Given the description of an element on the screen output the (x, y) to click on. 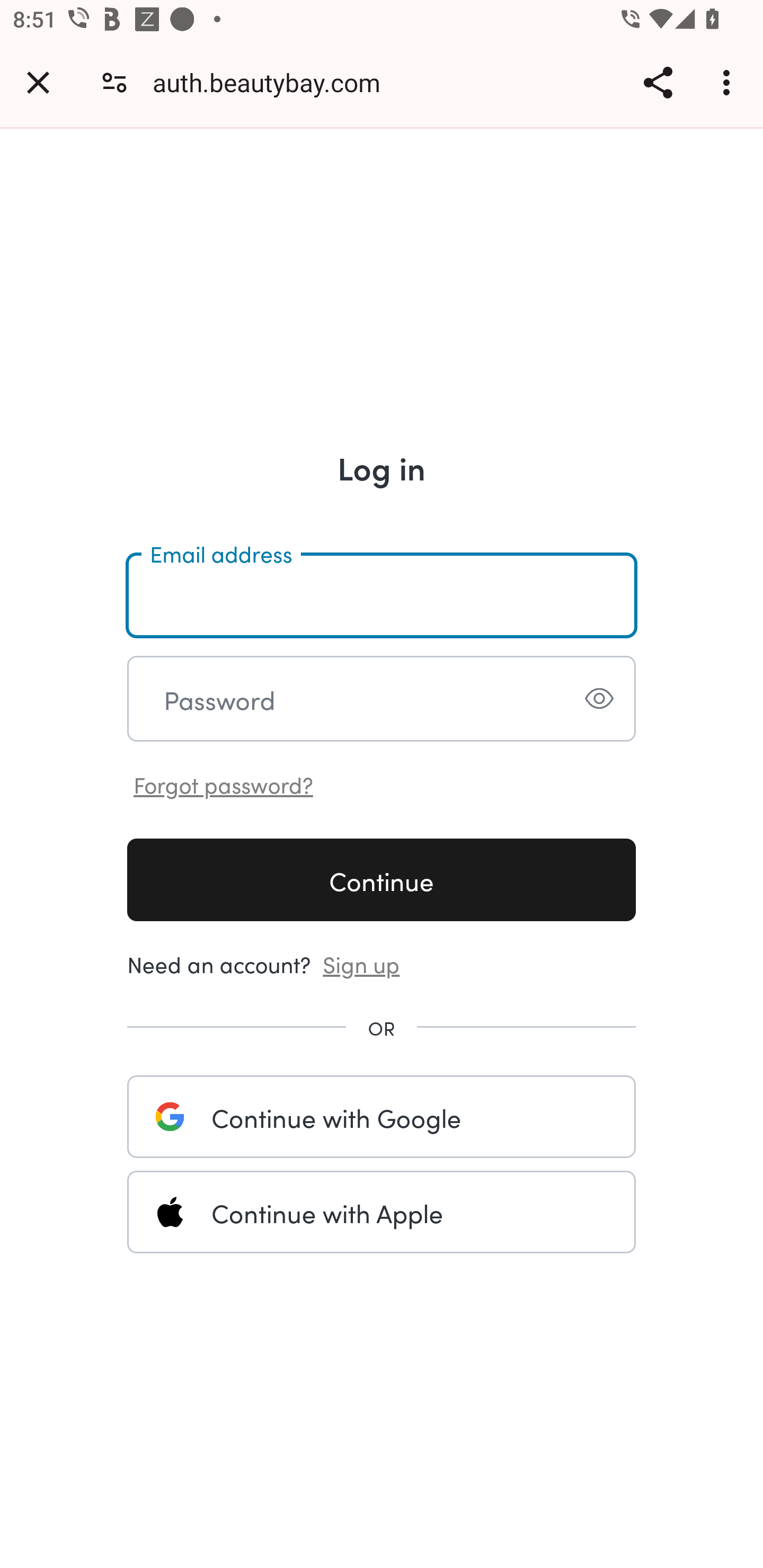
Close tab (38, 82)
Share (657, 82)
Customize and control Google Chrome (729, 82)
Connection is secure (114, 81)
auth.beautybay.com (272, 81)
Show password (599, 698)
Forgot password? (223, 782)
Continue (381, 879)
Sign up (361, 962)
Continue with Google (381, 1116)
Continue with Apple (381, 1211)
